Given the description of an element on the screen output the (x, y) to click on. 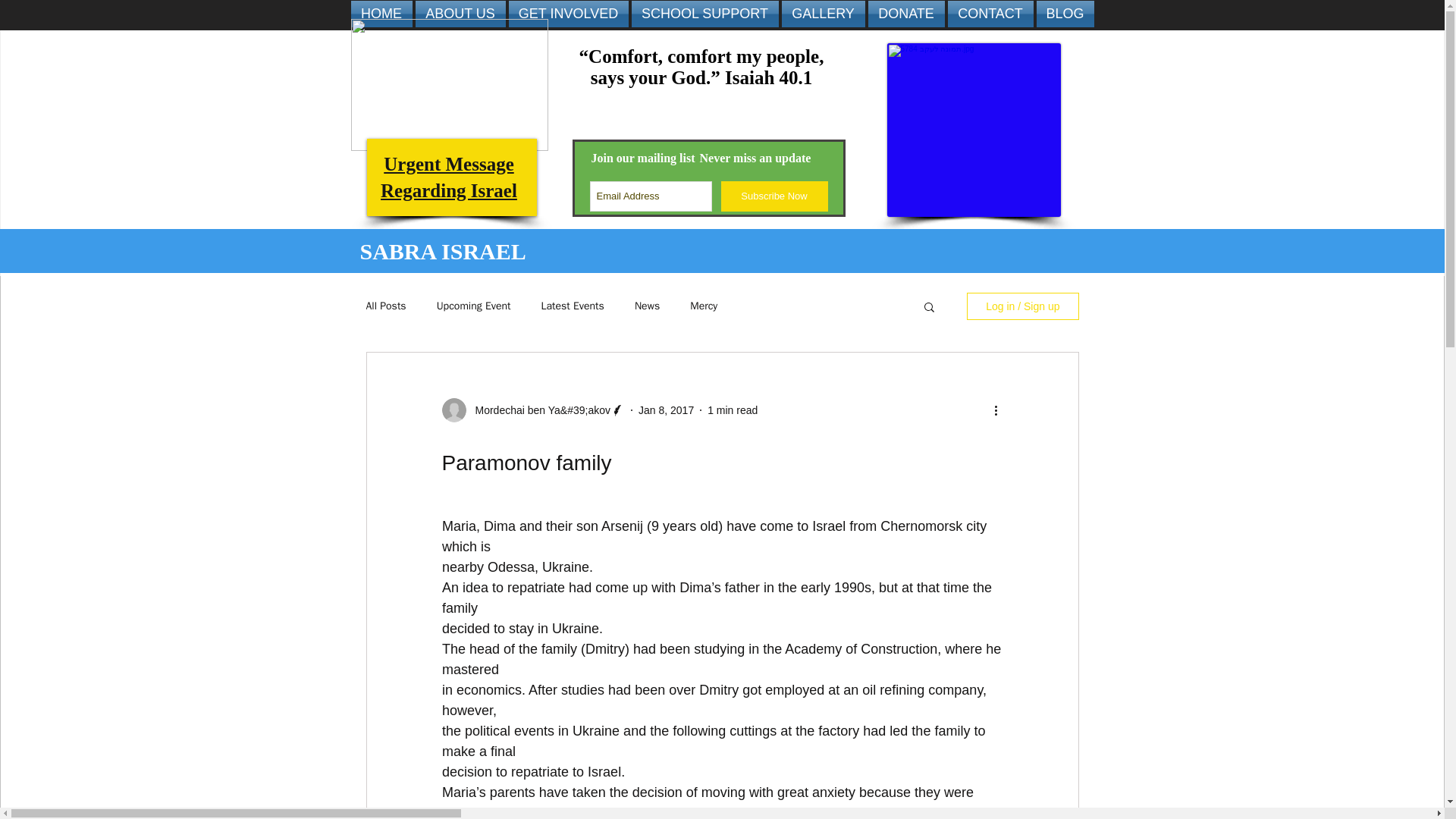
Upcoming Event (473, 305)
Subscribe Now (773, 195)
All Posts (385, 305)
ABOUT US (459, 13)
Latest Events (448, 176)
DONATE (572, 305)
Jan 8, 2017 (905, 13)
GET INVOLVED (666, 409)
Mercy (567, 13)
